Given the description of an element on the screen output the (x, y) to click on. 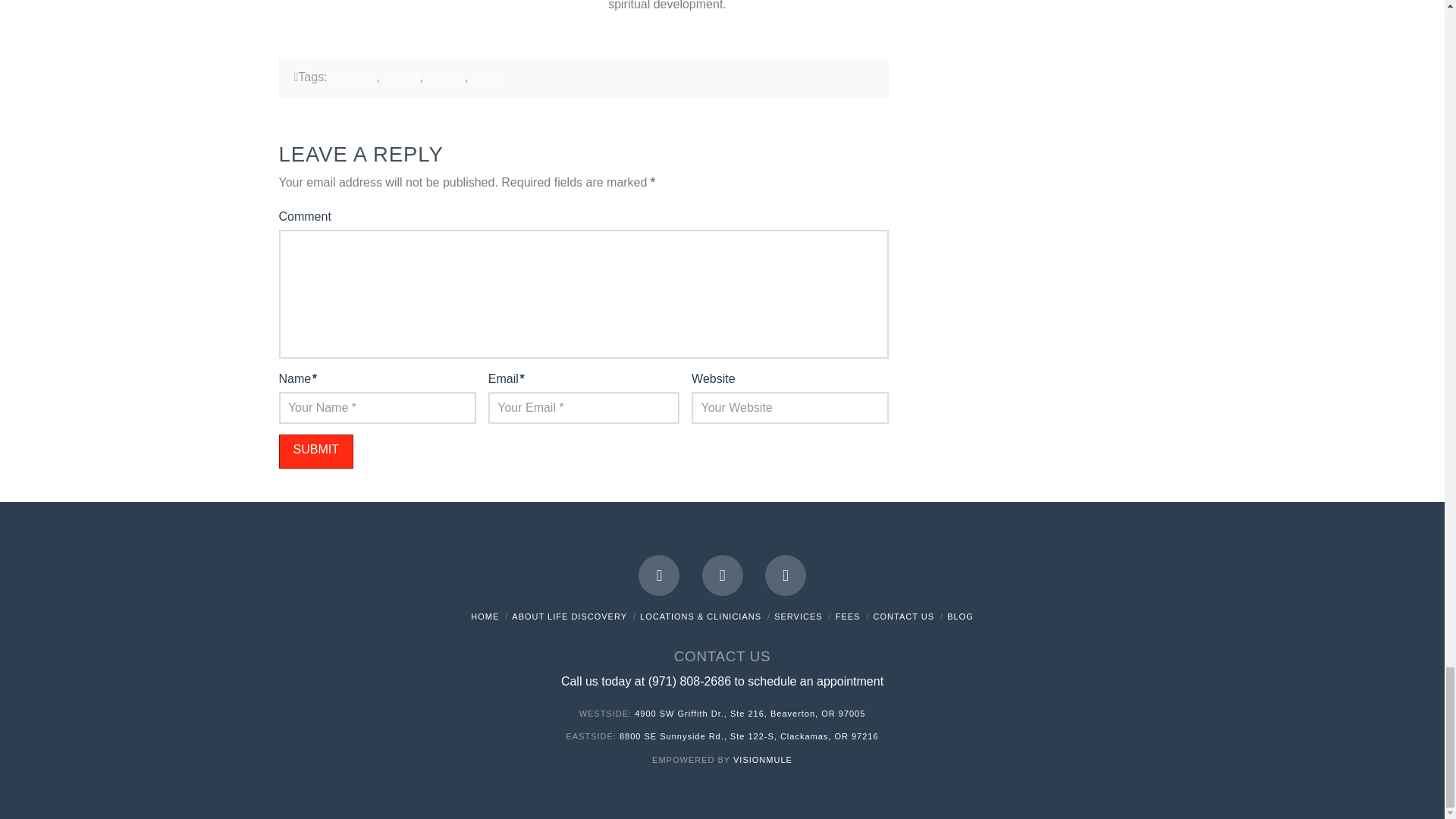
Instagram (785, 575)
Facebook (659, 575)
Submit (316, 451)
Twitter (721, 575)
VisionMule Business Websites (762, 759)
